Given the description of an element on the screen output the (x, y) to click on. 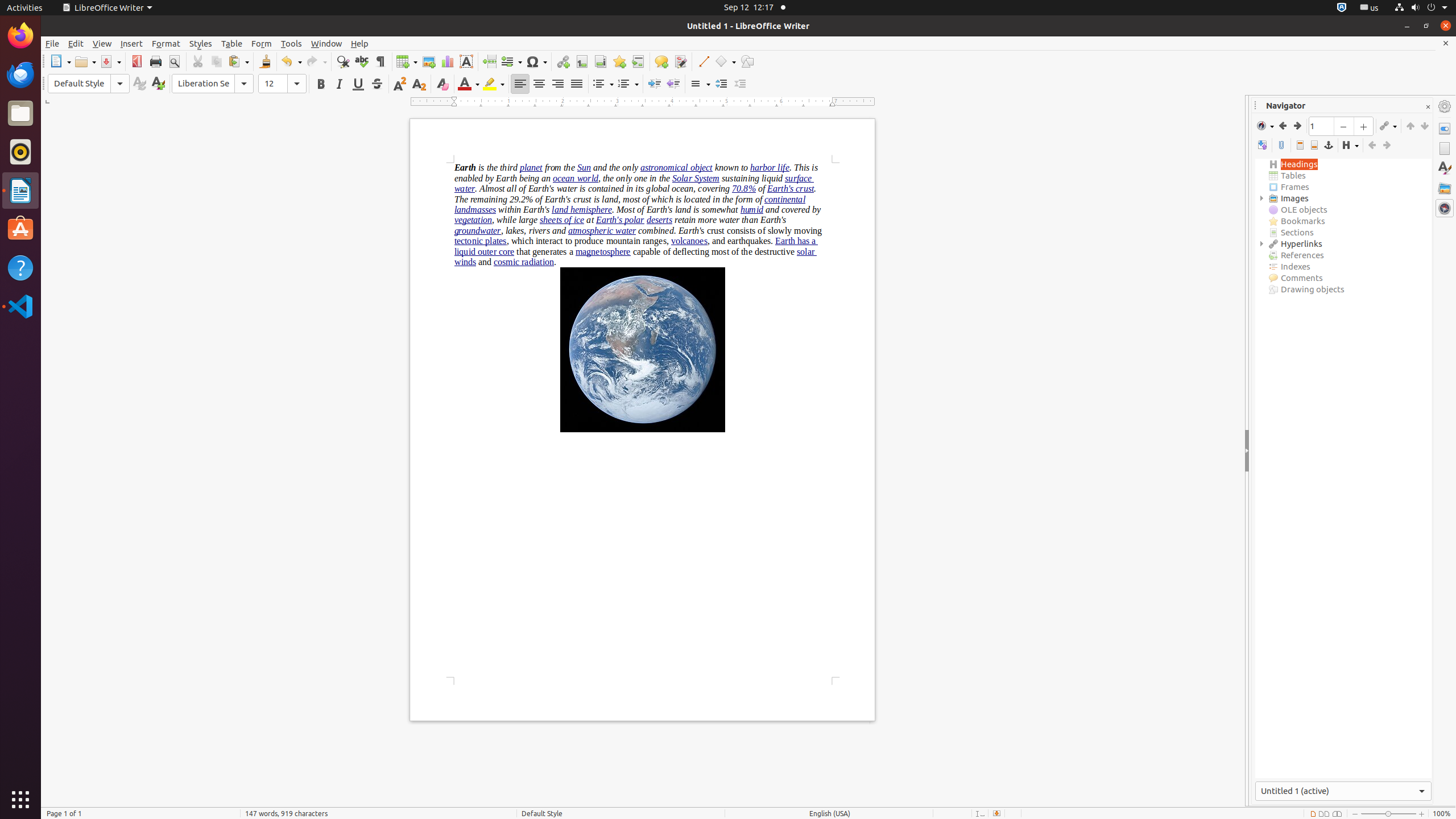
Help Element type: push-button (20, 267)
Show Applications Element type: toggle-button (20, 799)
LibreOffice Writer Element type: push-button (20, 190)
System Element type: menu (1420, 7)
:1.21/StatusNotifierItem Element type: menu (1369, 7)
